Given the description of an element on the screen output the (x, y) to click on. 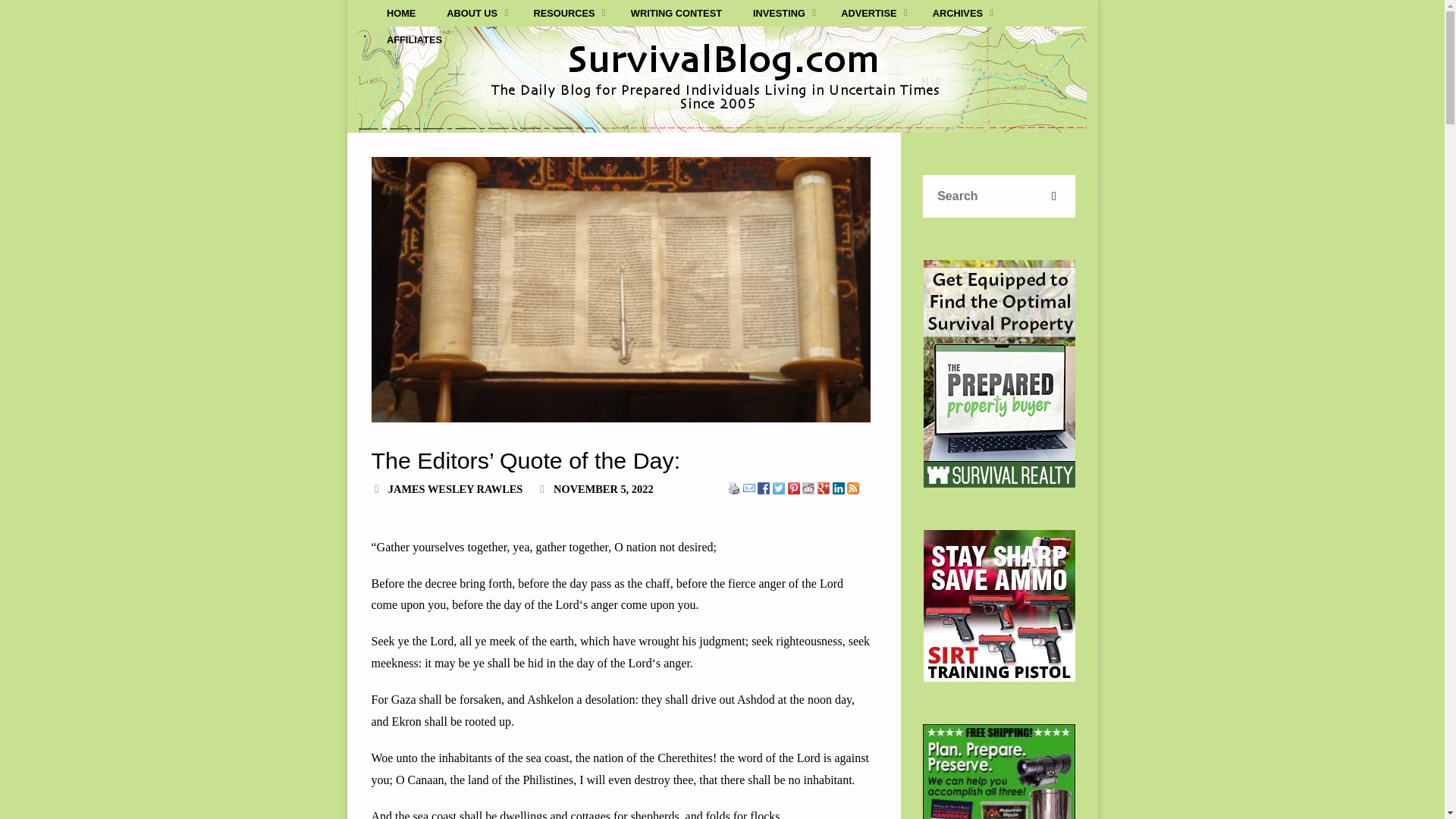
View all posts by James Wesley Rawles (455, 489)
Print This Post (733, 487)
The Editors' Quote of the Day: (620, 289)
Email This Post (748, 488)
Email This Post (748, 487)
Ready Made Resources (999, 771)
Print This Post (733, 488)
NextLevel Training (999, 605)
